Given the description of an element on the screen output the (x, y) to click on. 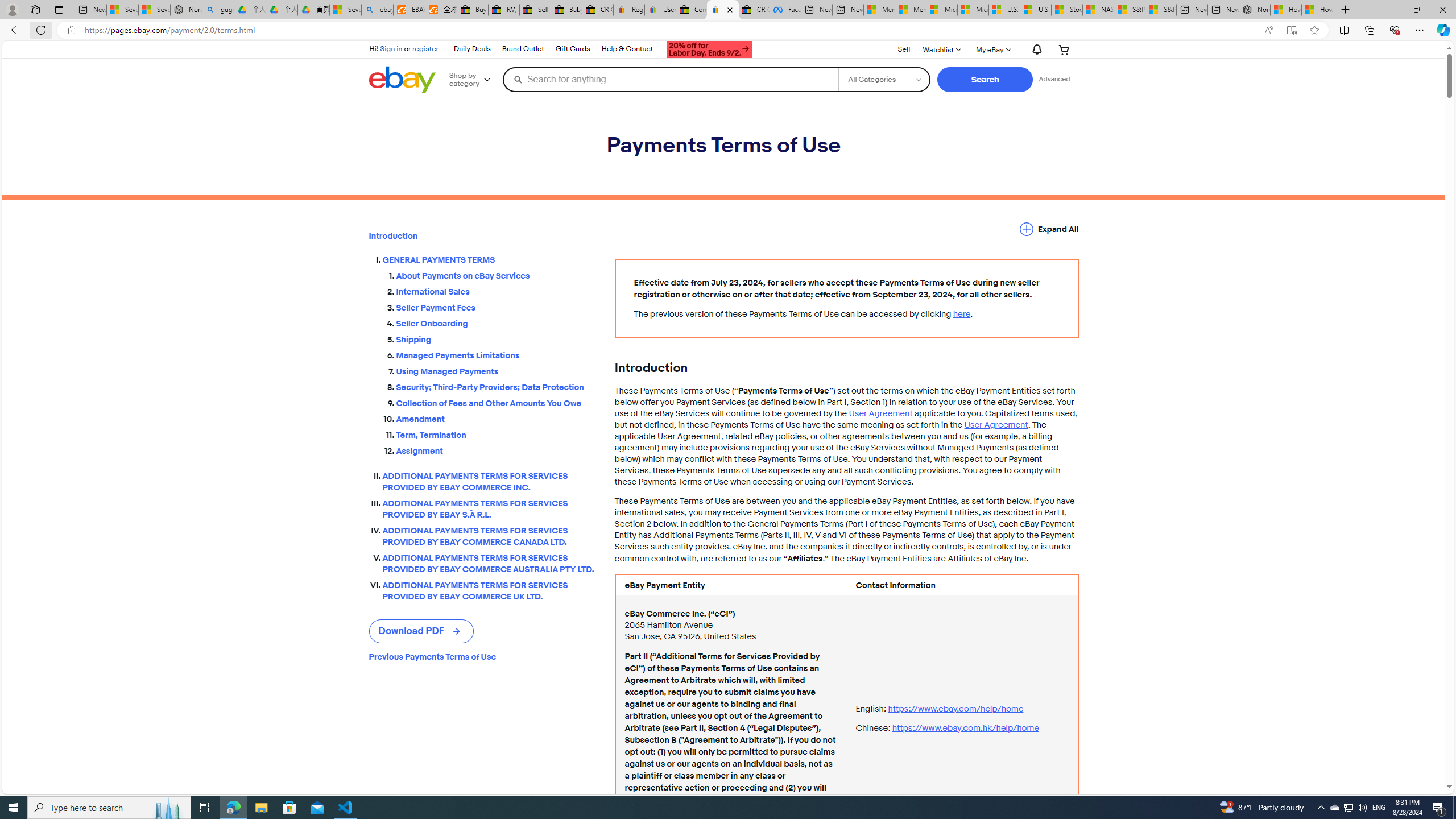
Search for anything (670, 78)
GENERAL PAYMENTS TERMS (488, 259)
Using Managed Payments (496, 371)
Daily Deals (471, 49)
Collection of Fees and Other Amounts You Owe (496, 401)
User Privacy Notice | eBay (660, 9)
Select a category for search (884, 78)
Managed Payments Limitations (496, 353)
My eBayExpand My eBay (992, 49)
